Given the description of an element on the screen output the (x, y) to click on. 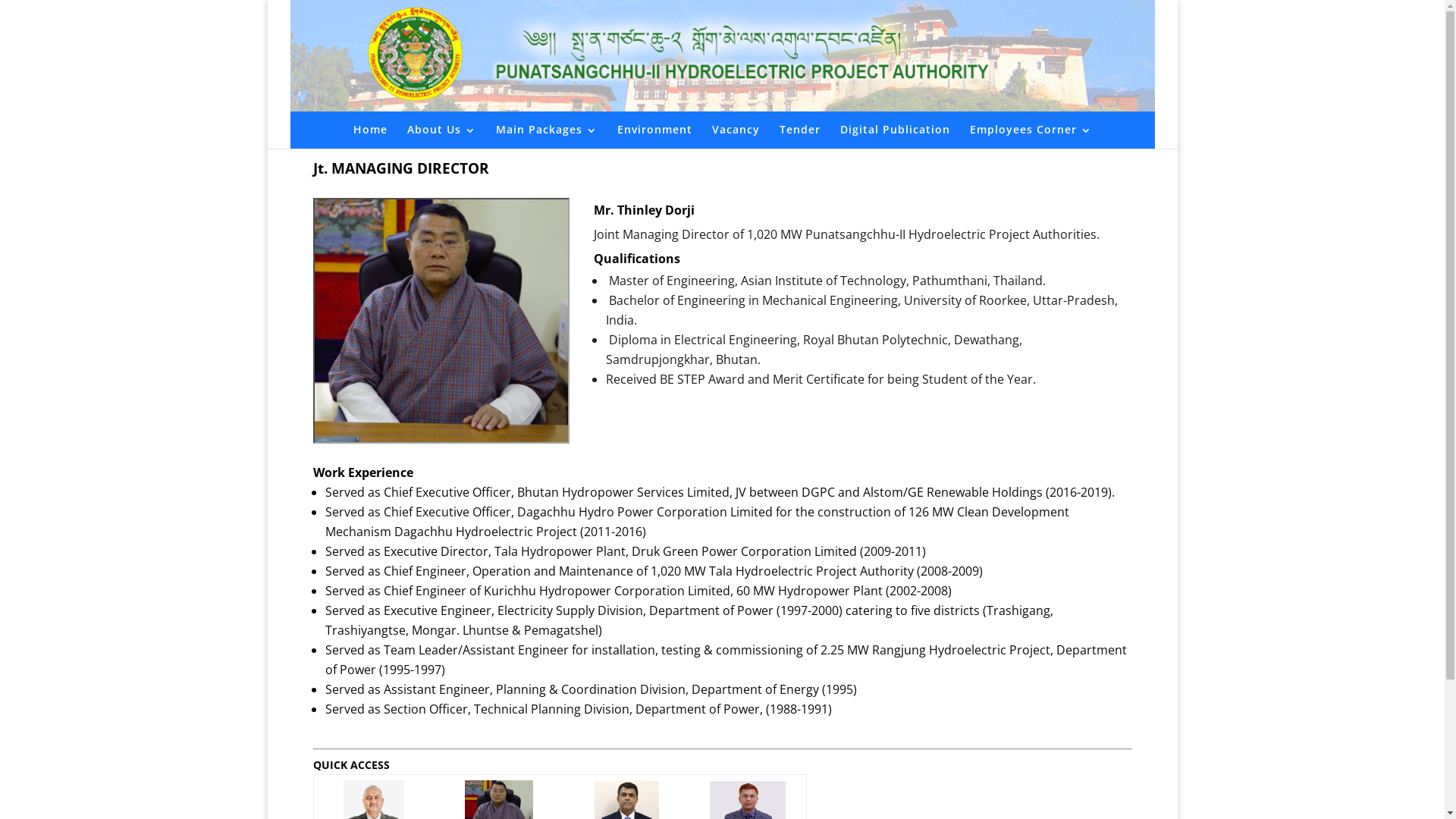
About Us Element type: text (440, 139)
Environment Element type: text (654, 139)
Digital Publication Element type: text (895, 139)
Vacancy Element type: text (735, 139)
Home Element type: text (370, 139)
Tender Element type: text (799, 139)
Employees Corner Element type: text (1030, 139)
Main Packages Element type: text (546, 139)
